Given the description of an element on the screen output the (x, y) to click on. 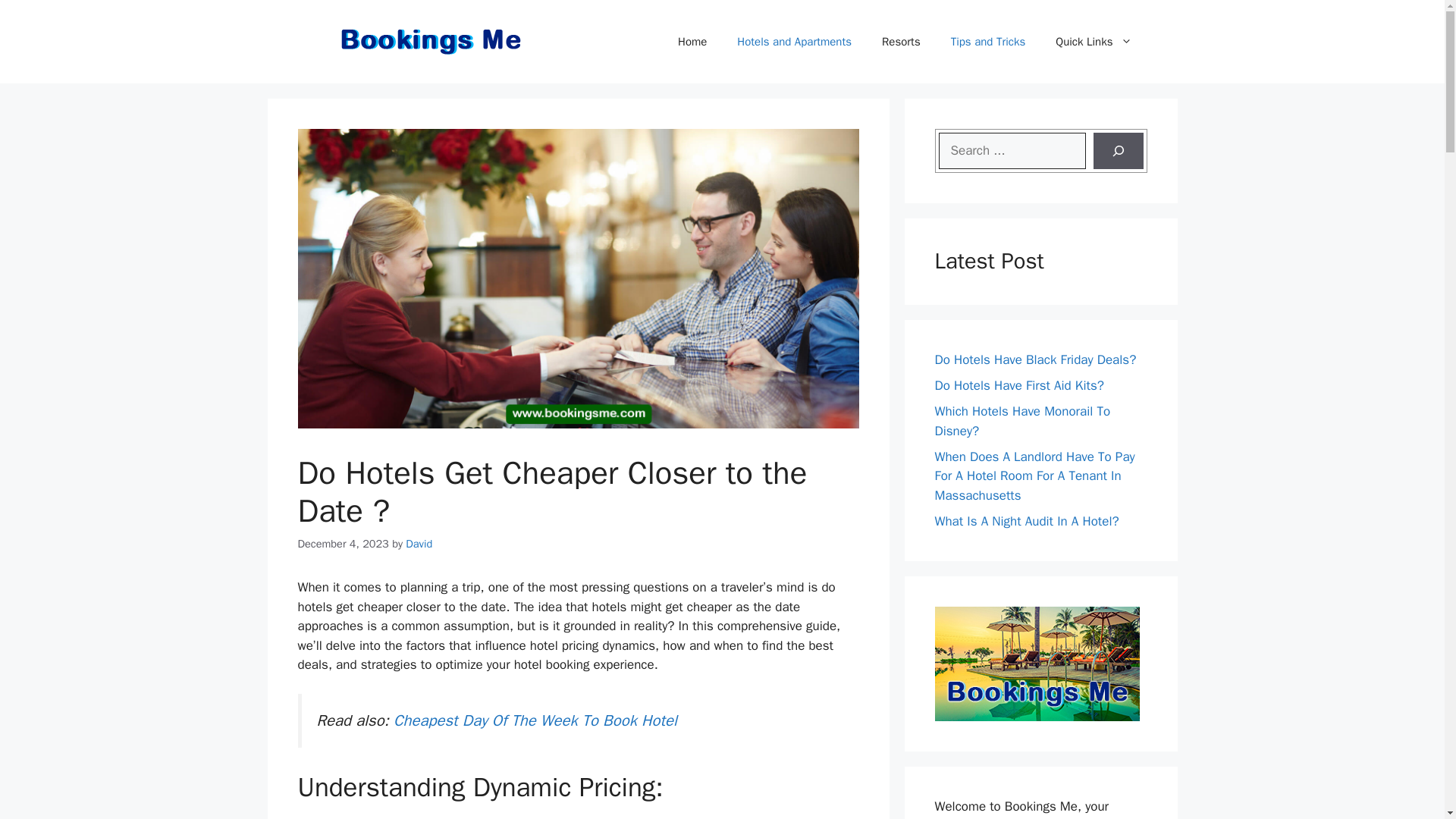
Resorts (901, 41)
View all posts by David (419, 543)
Quick Links (1094, 41)
Tips and Tricks (988, 41)
Home (692, 41)
David (419, 543)
Do Hotels Have First Aid Kits? (1018, 385)
What Is A Night Audit In A Hotel? (1026, 521)
Hotels and Apartments (794, 41)
Cheapest Day Of The Week To Book Hotel (535, 720)
Do Hotels Have Black Friday Deals? (1034, 359)
Which Hotels Have Monorail To Disney? (1021, 420)
